Given the description of an element on the screen output the (x, y) to click on. 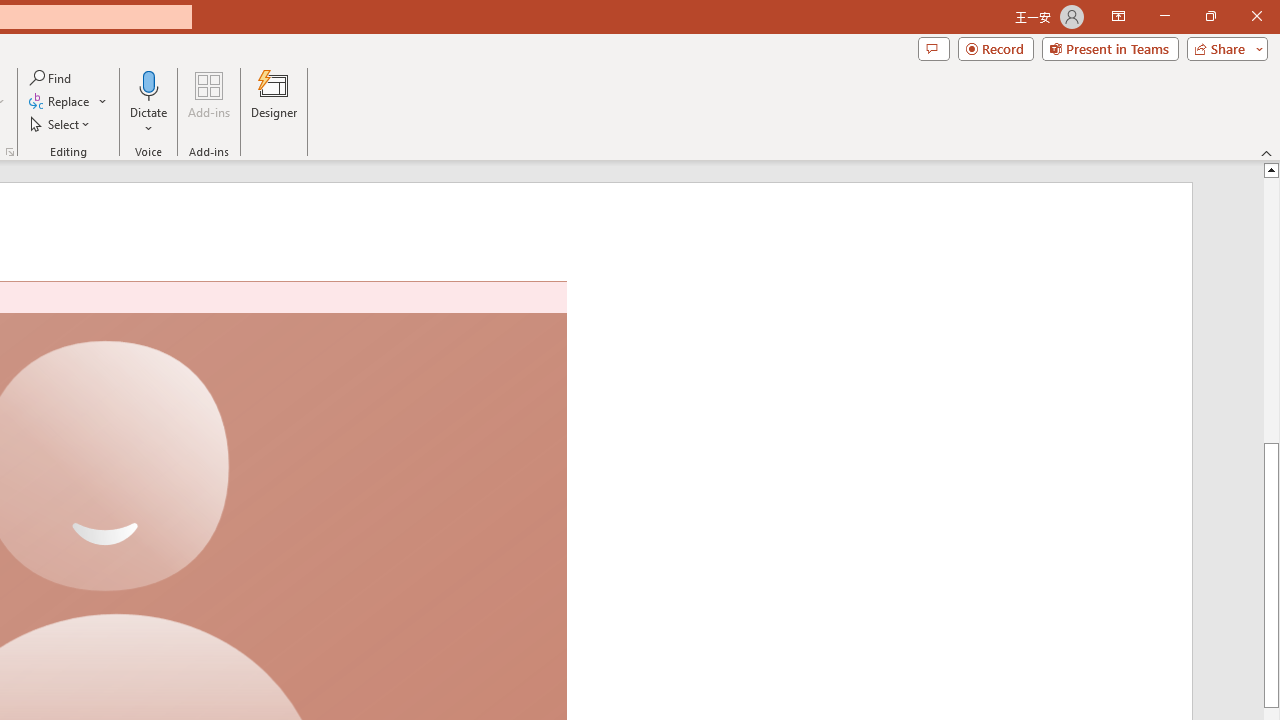
Rotate (1028, 102)
Reflected Perspective Right (445, 100)
Send Backward (836, 102)
Soft Edge Oval (276, 100)
Selection Pane... (897, 102)
Shape Width (1201, 119)
Perspective Shadow, White (164, 100)
